Given the description of an element on the screen output the (x, y) to click on. 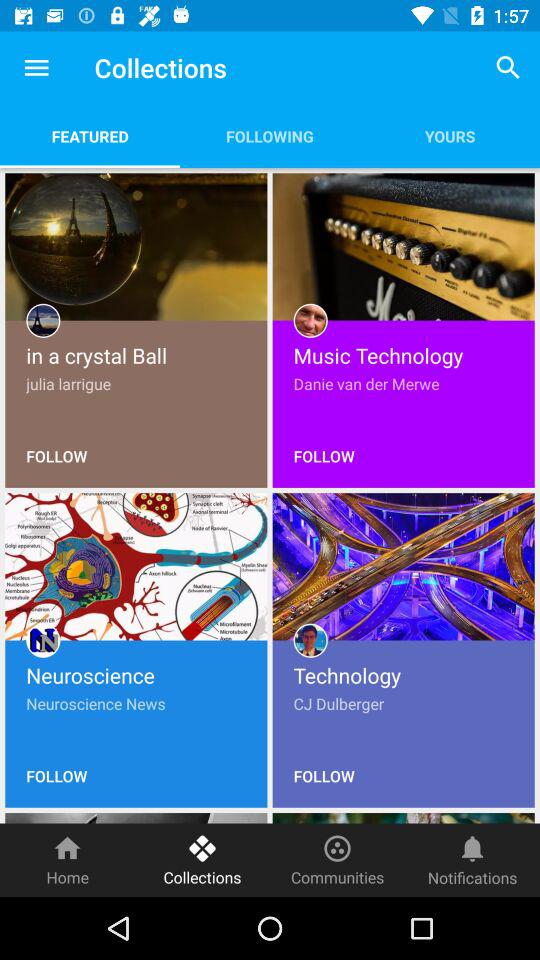
tap the item to the left of collections item (36, 67)
